Given the description of an element on the screen output the (x, y) to click on. 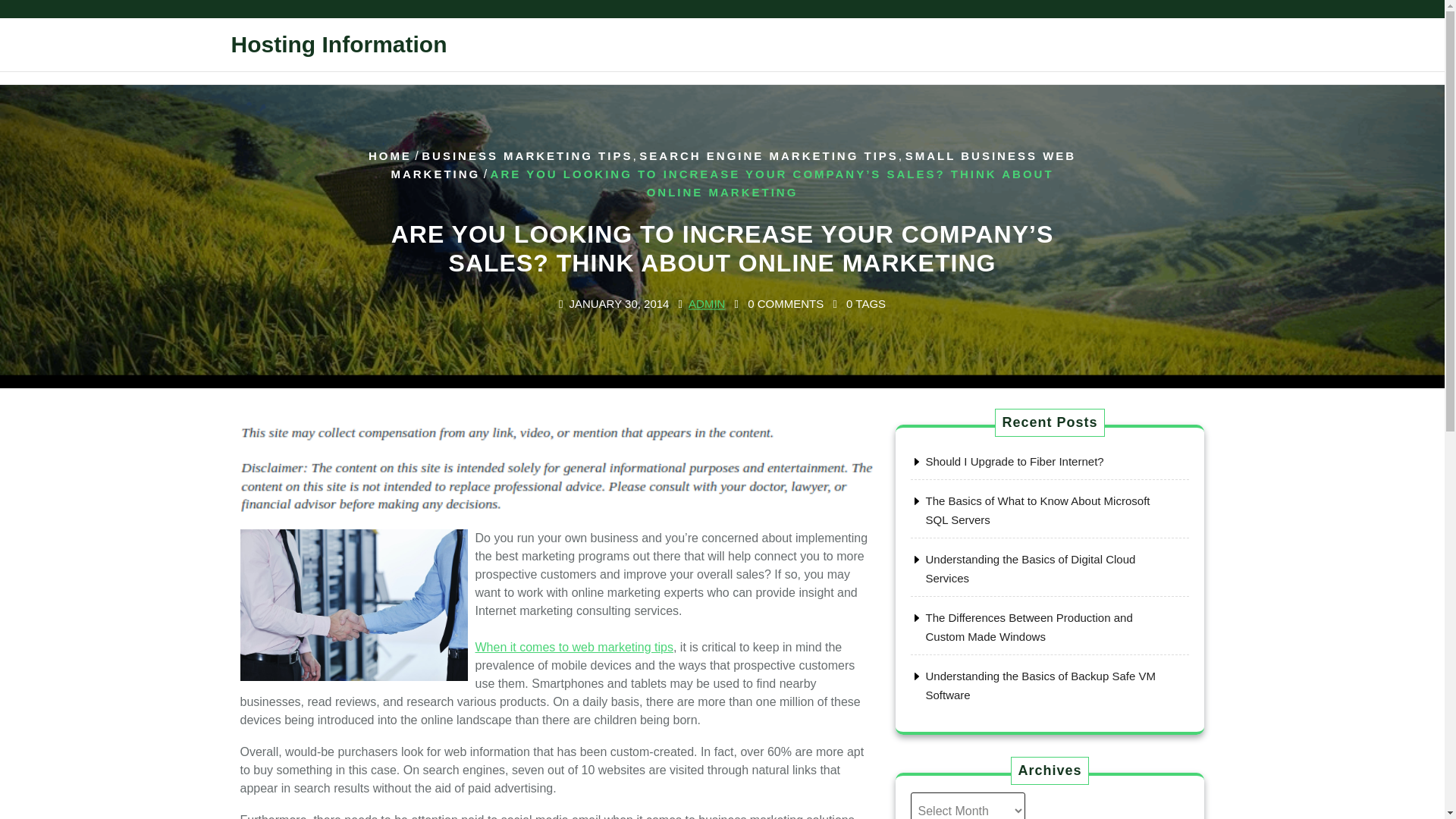
HOME (390, 155)
BUSINESS MARKETING TIPS (526, 155)
See more about Business marketing solutions (573, 655)
When it comes to web marketing tips (573, 655)
Hosting Information (338, 43)
SEARCH ENGINE MARKETING TIPS (768, 155)
SMALL BUSINESS WEB MARKETING (732, 164)
Understanding the Basics of Digital Cloud Services (1029, 568)
The Differences Between Production and Custom Made Windows (1028, 626)
ADMIN (706, 304)
